Given the description of an element on the screen output the (x, y) to click on. 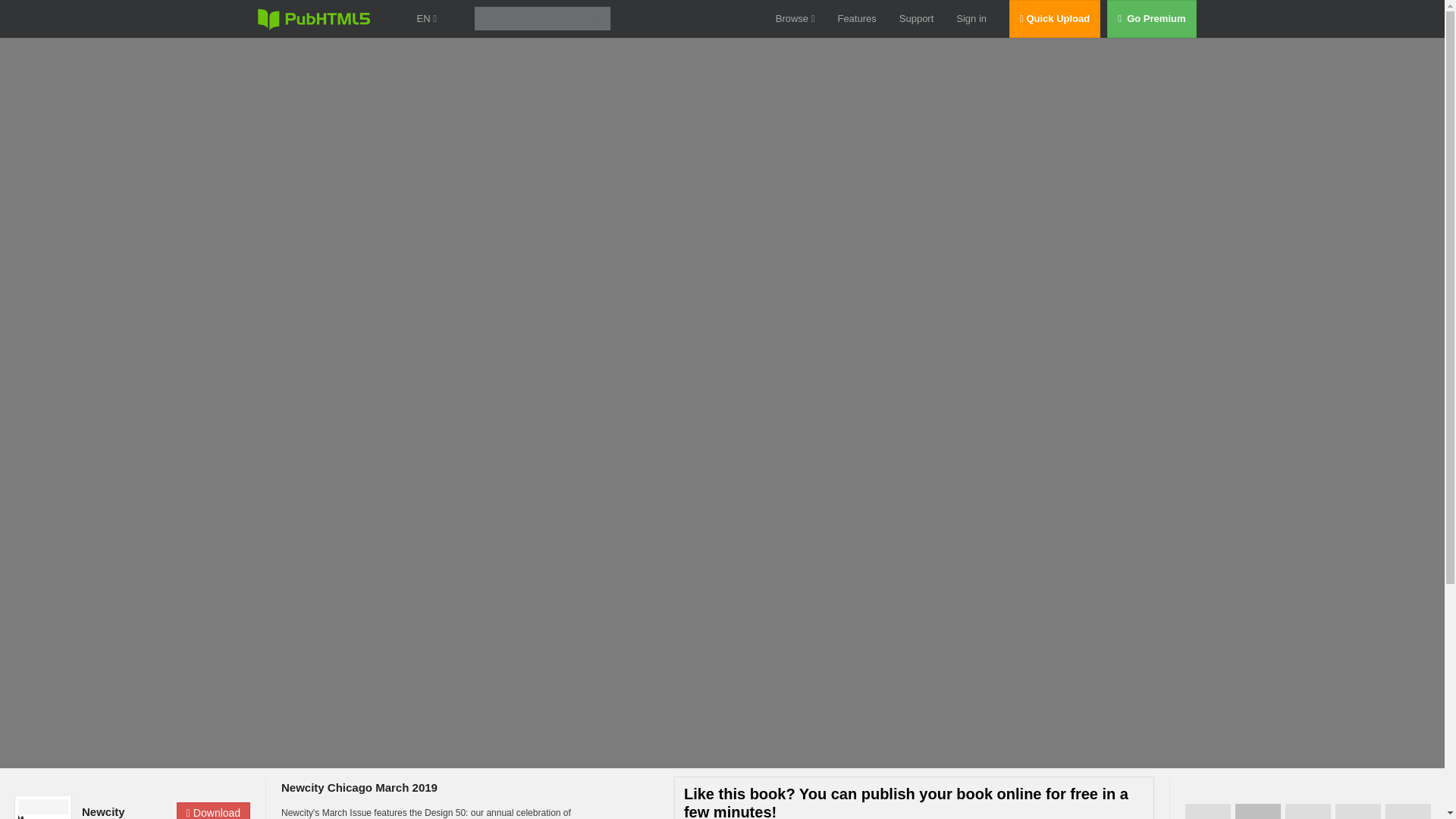
Newcity (124, 811)
Features (856, 18)
Browse (795, 18)
Convert your own PDF file to online flipbook (1257, 811)
Newcity (124, 811)
Newcity Chicago March 2019 (359, 787)
Add to my favorites (1307, 811)
EN (426, 18)
Support (916, 18)
Embed this book (1357, 811)
 Go Premium (1158, 18)
Share this book (1408, 811)
Download this PDF file (213, 810)
